Given the description of an element on the screen output the (x, y) to click on. 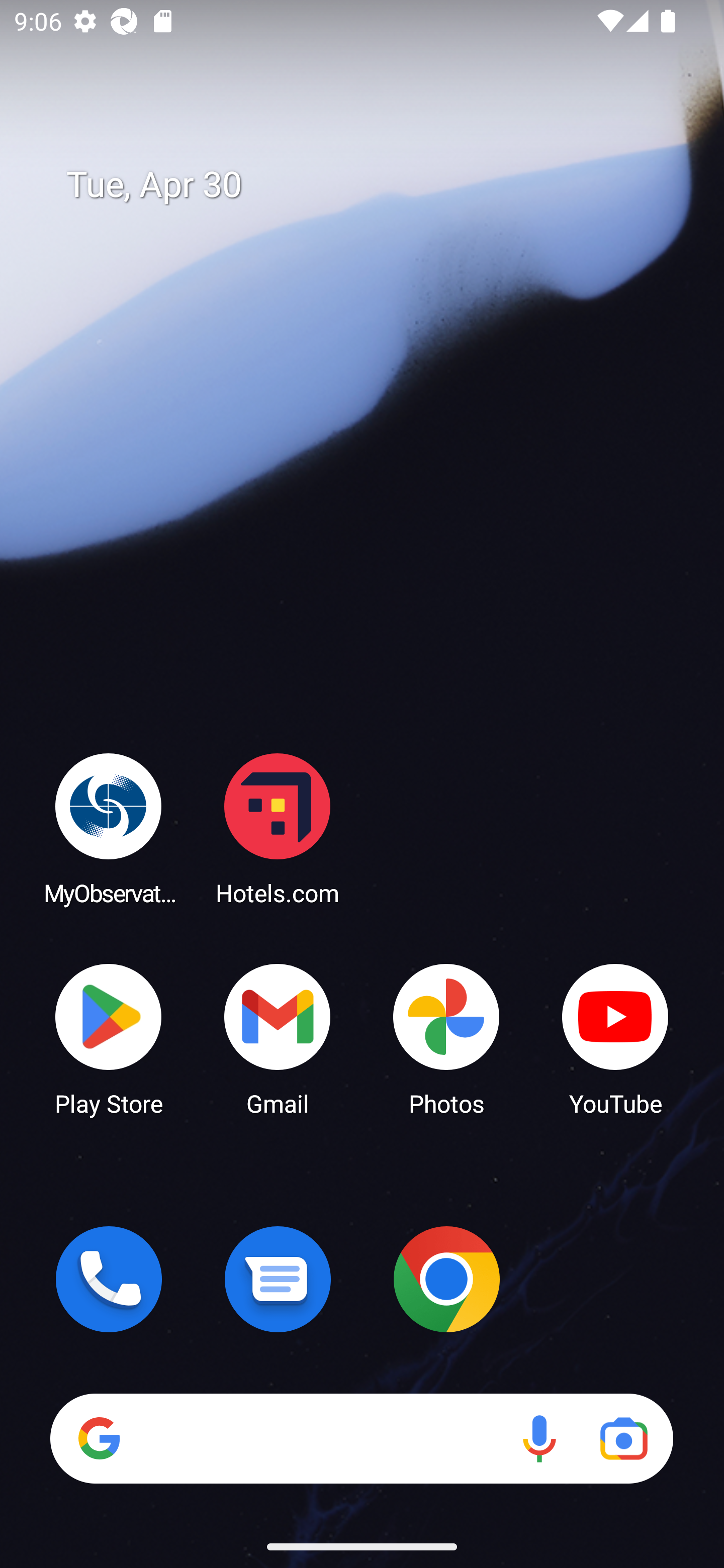
Tue, Apr 30 (375, 184)
MyObservatory (108, 828)
Hotels.com (277, 828)
Play Store (108, 1038)
Gmail (277, 1038)
Photos (445, 1038)
YouTube (615, 1038)
Phone (108, 1279)
Messages (277, 1279)
Chrome (446, 1279)
Search Voice search Google Lens (361, 1438)
Voice search (539, 1438)
Google Lens (623, 1438)
